Given the description of an element on the screen output the (x, y) to click on. 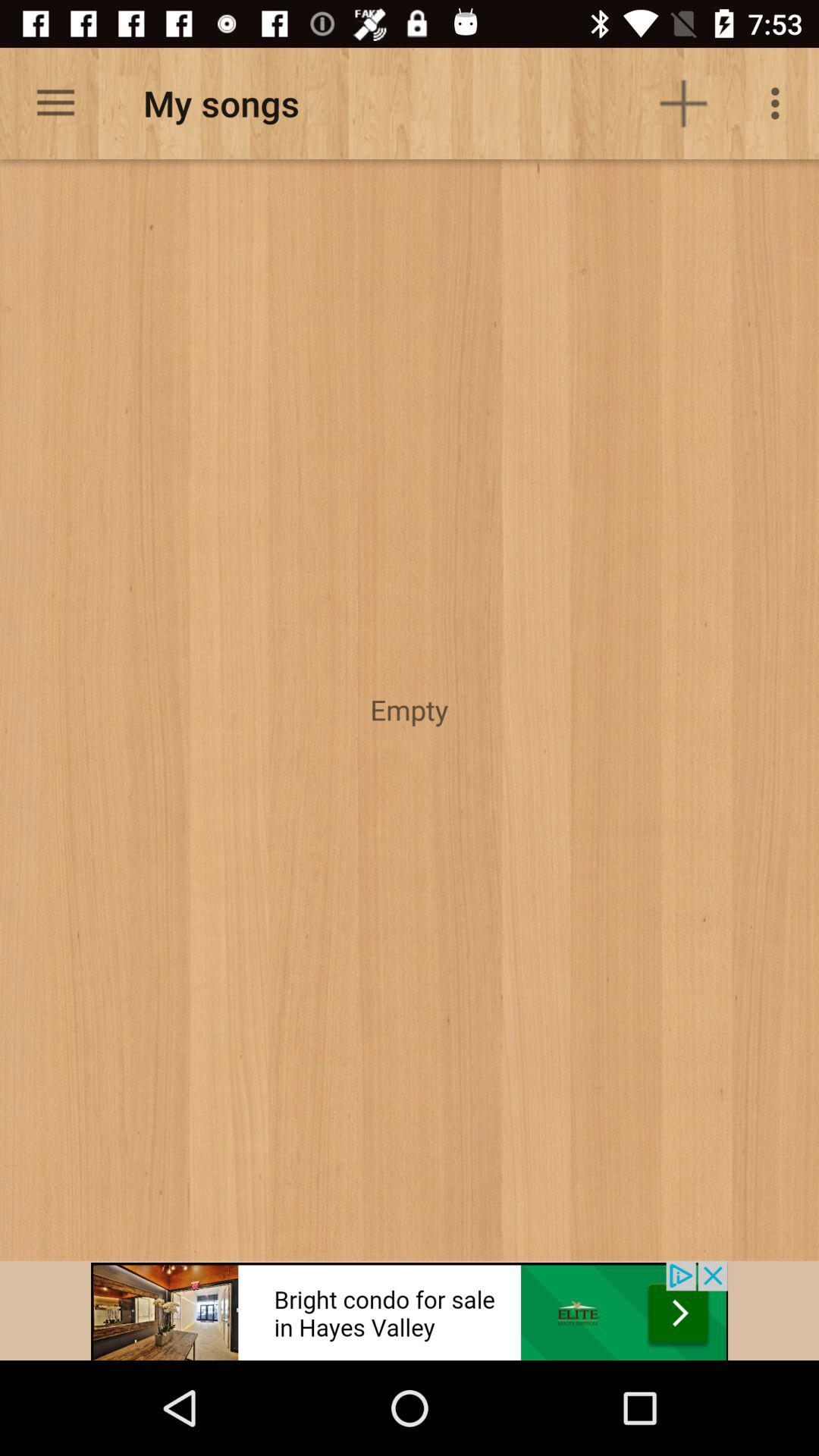
advertisement banner (409, 1310)
